Given the description of an element on the screen output the (x, y) to click on. 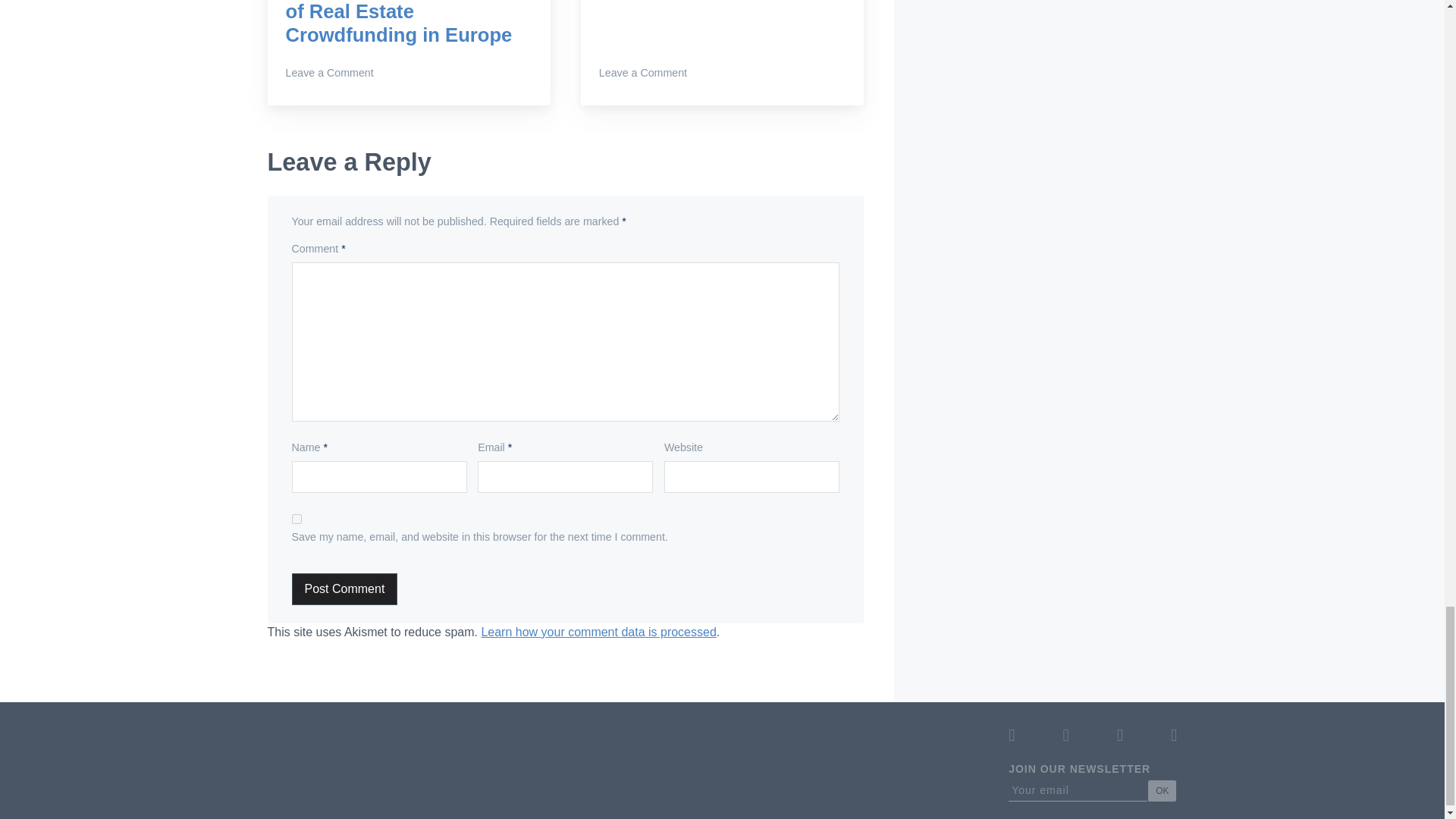
OK (1161, 790)
yes (296, 519)
Post Comment (344, 589)
